Given the description of an element on the screen output the (x, y) to click on. 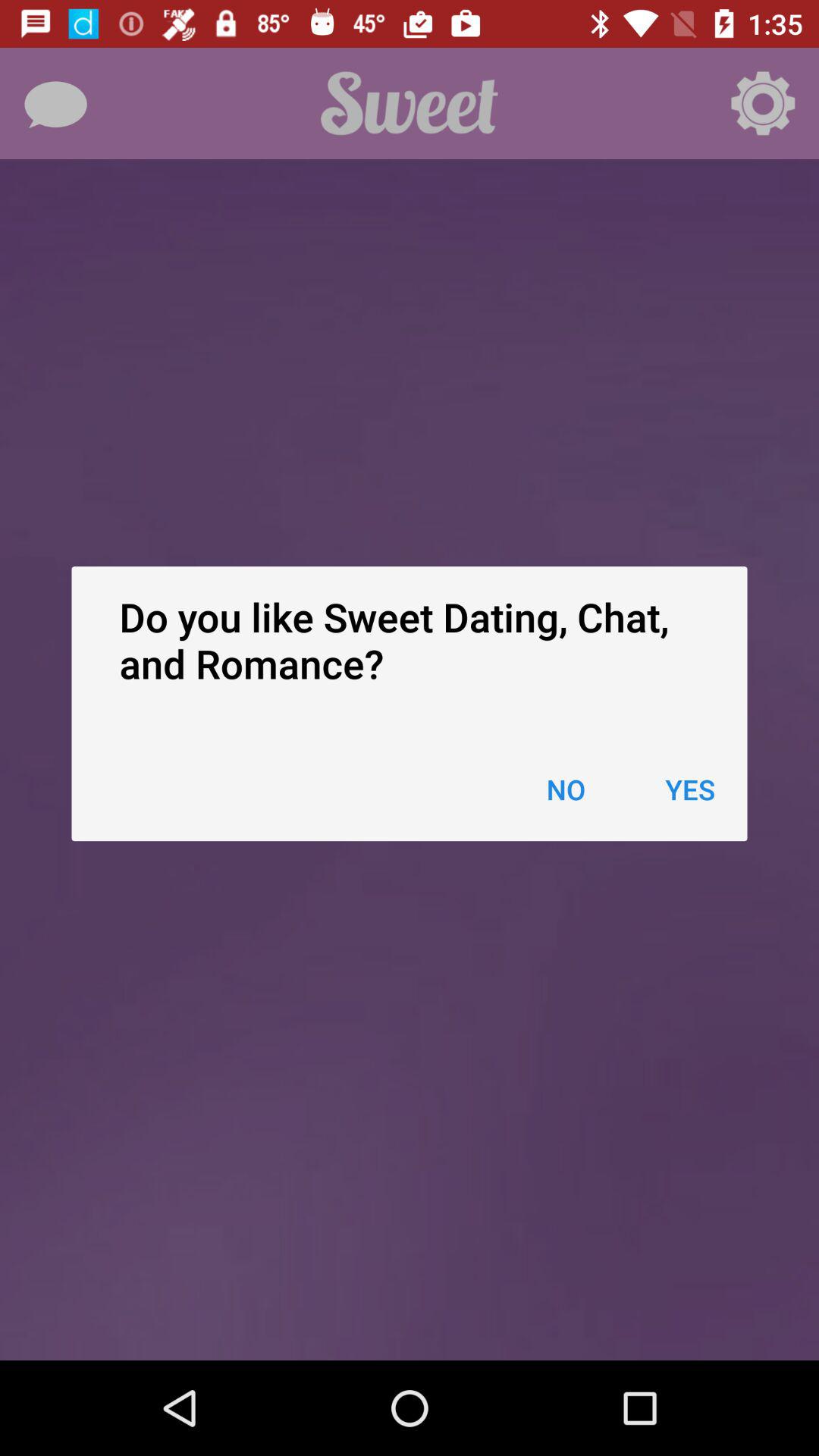
flip until the yes (690, 789)
